Given the description of an element on the screen output the (x, y) to click on. 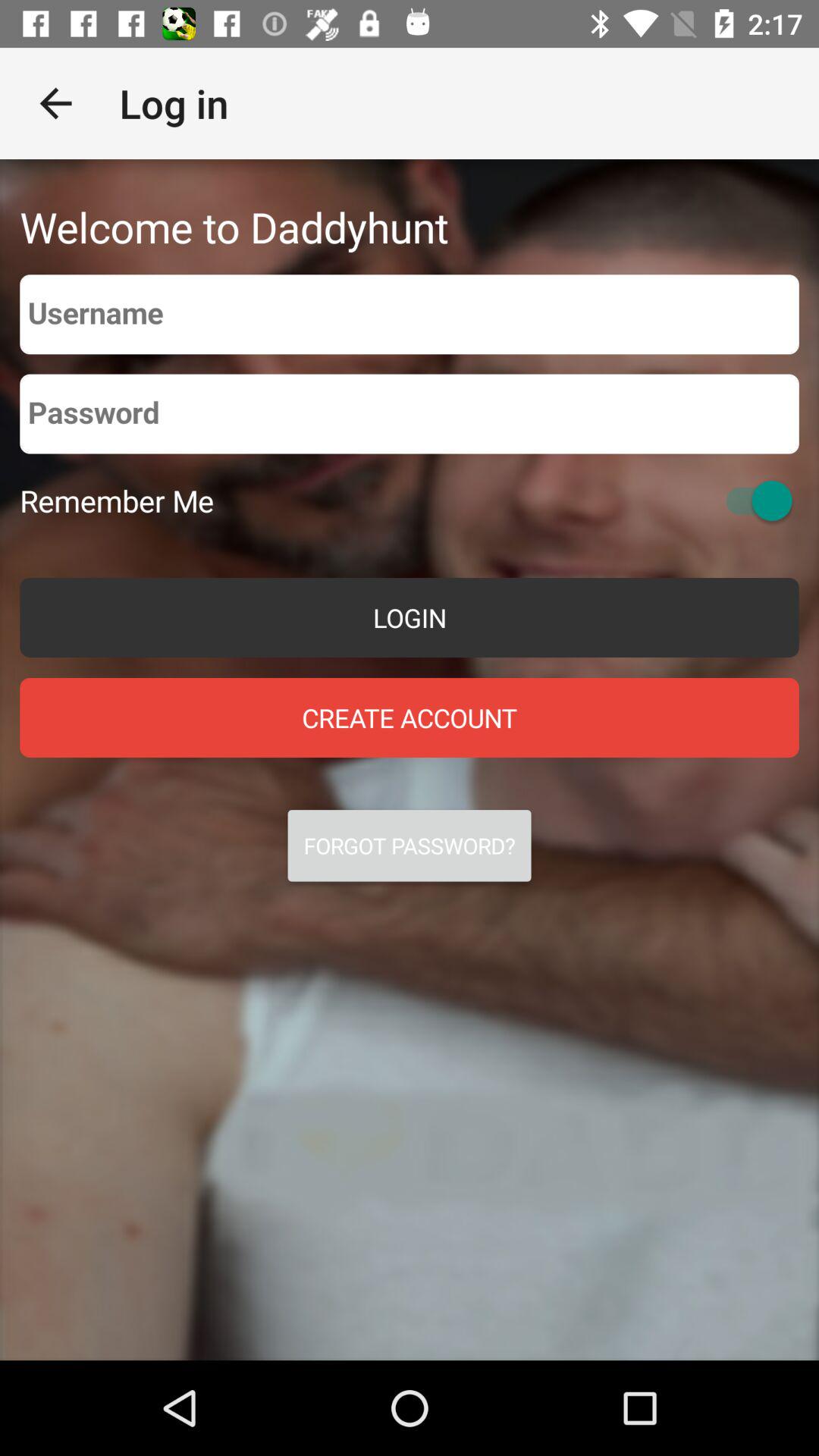
toggle remember me option (751, 500)
